Given the description of an element on the screen output the (x, y) to click on. 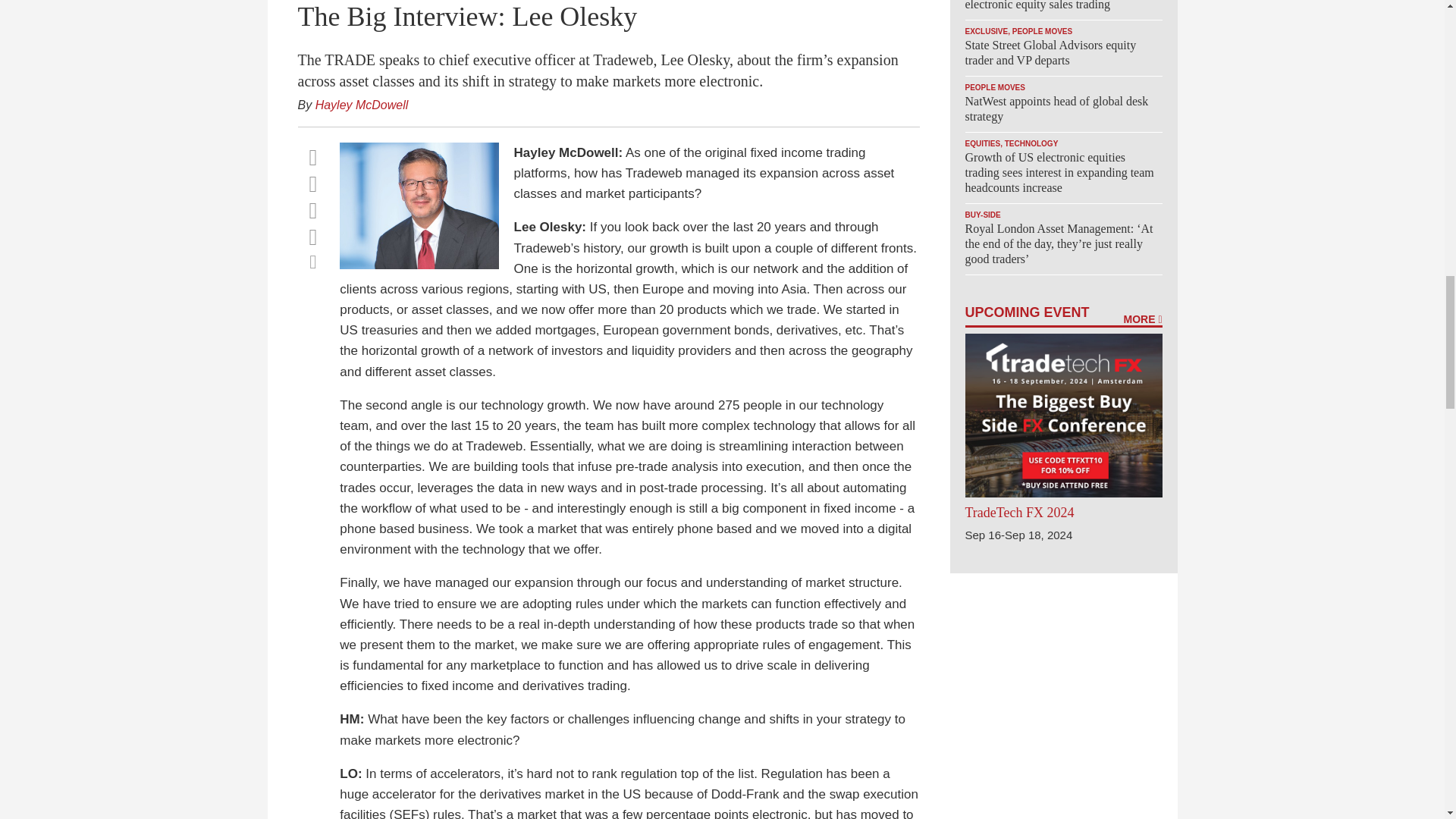
ShareREAL (422, 264)
